Given the description of an element on the screen output the (x, y) to click on. 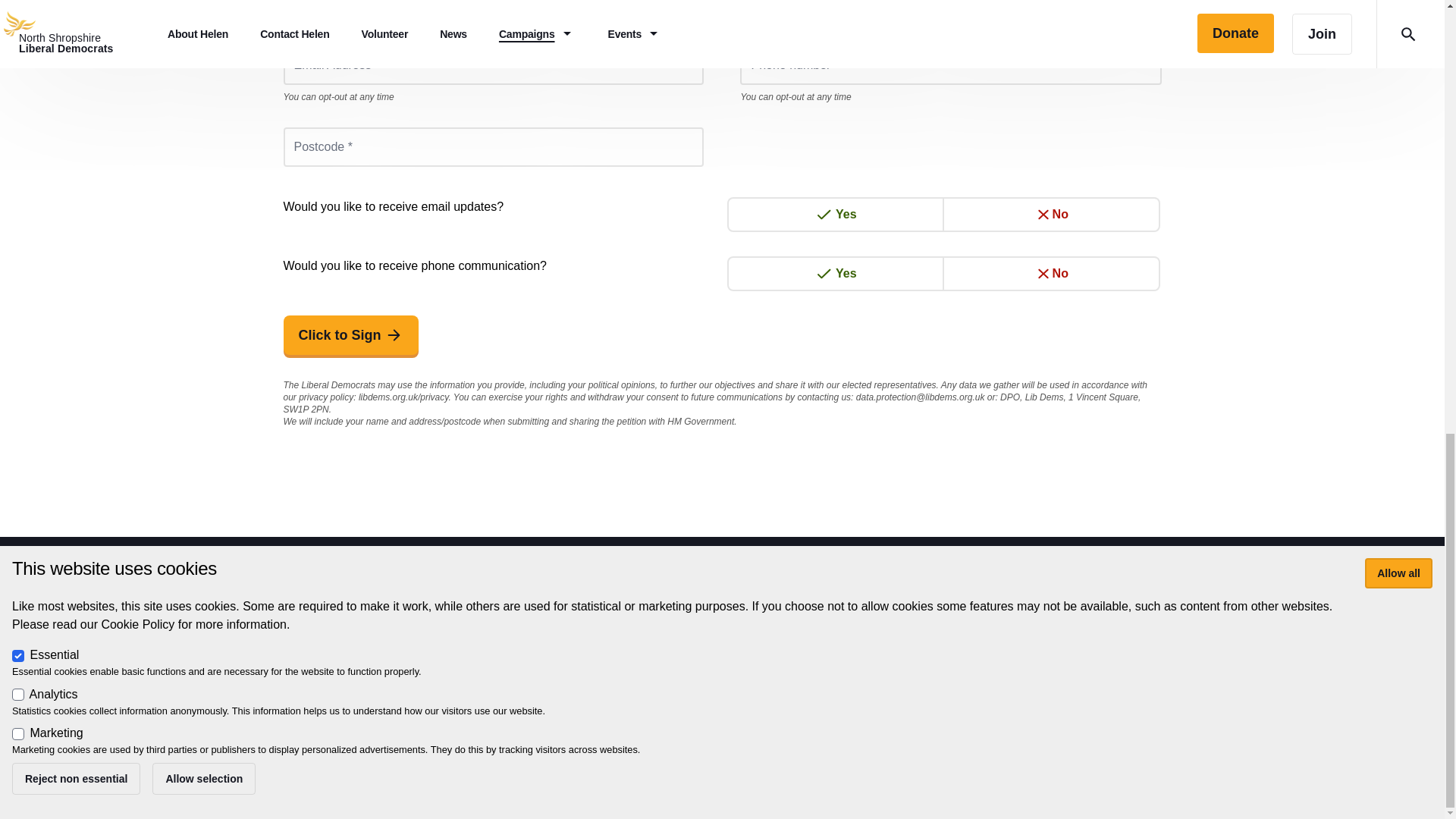
Prater Raines (370, 725)
Click to Sign (351, 333)
accessibility statement (635, 677)
Liberal Democrats (406, 707)
cookie policy (741, 677)
